Given the description of an element on the screen output the (x, y) to click on. 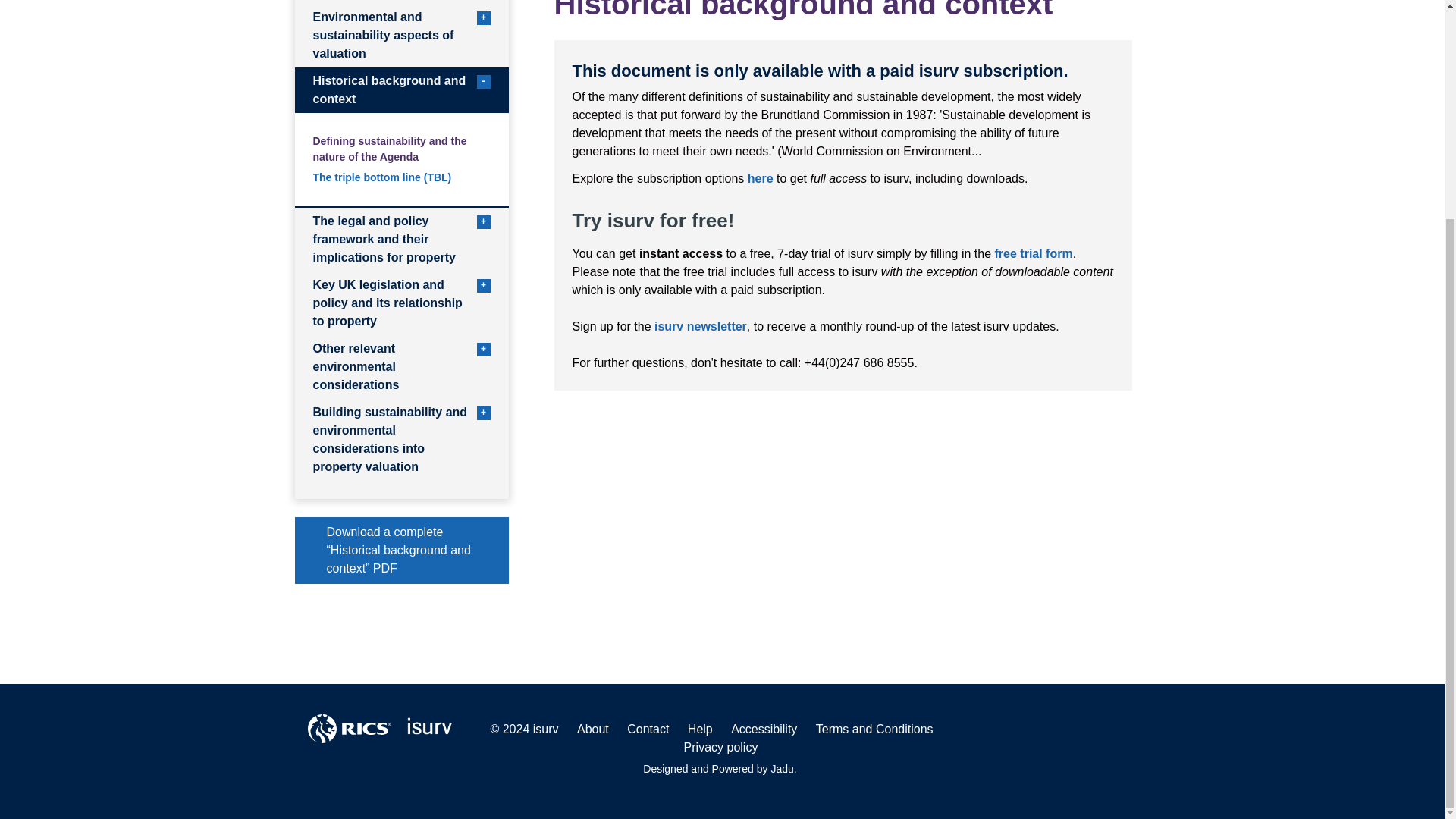
free trial form (401, 90)
isurv newsletter (1033, 253)
here (699, 326)
